Given the description of an element on the screen output the (x, y) to click on. 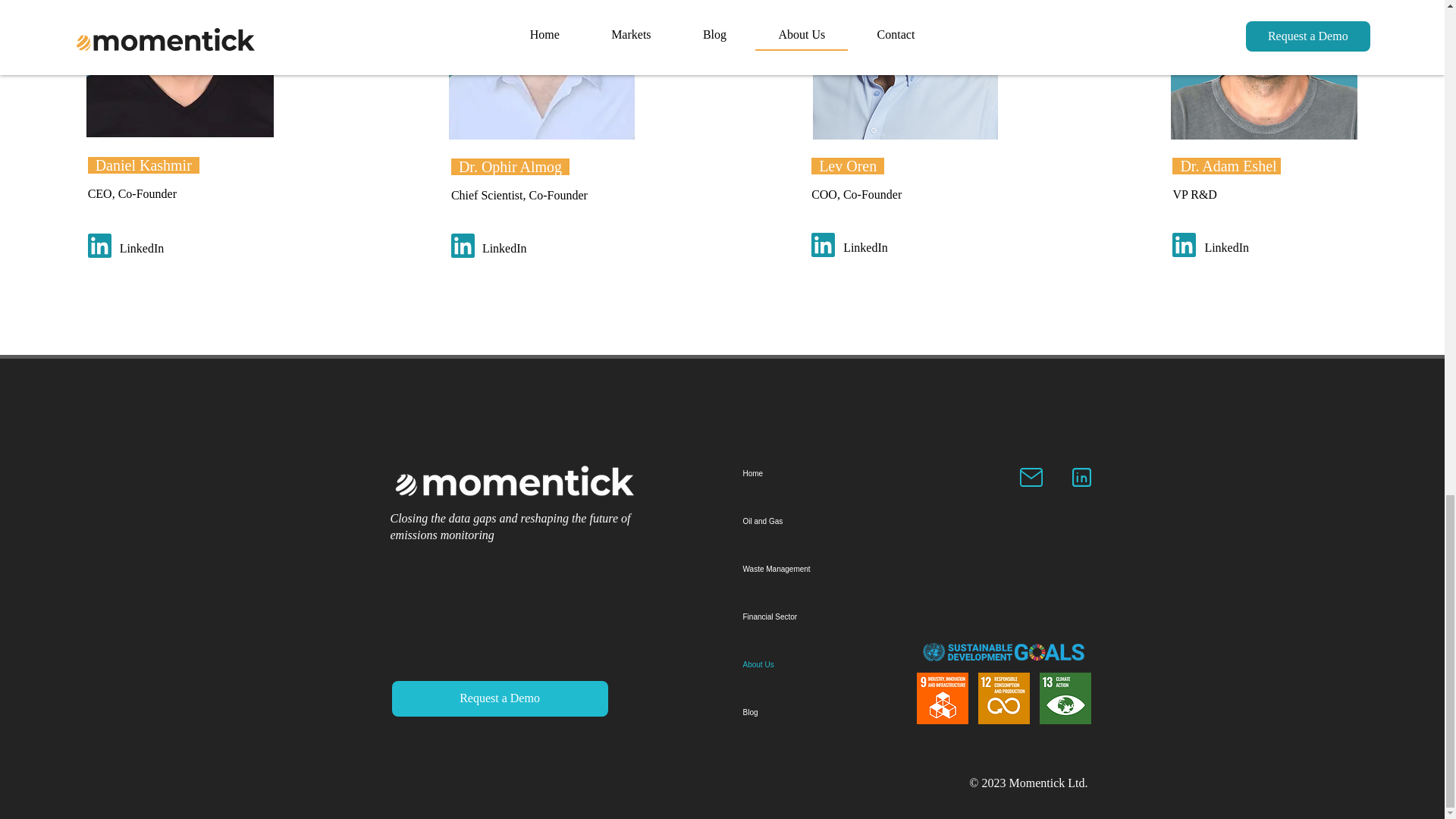
Home (816, 473)
Financial Sector (816, 616)
LinkedIn (883, 248)
LinkedIn (1244, 248)
Waste Management (816, 568)
LinkedIn (159, 248)
About Us (816, 664)
LinkedIn (521, 248)
Oil and Gas (816, 521)
Request a Demo (499, 698)
Blog (816, 712)
